Given the description of an element on the screen output the (x, y) to click on. 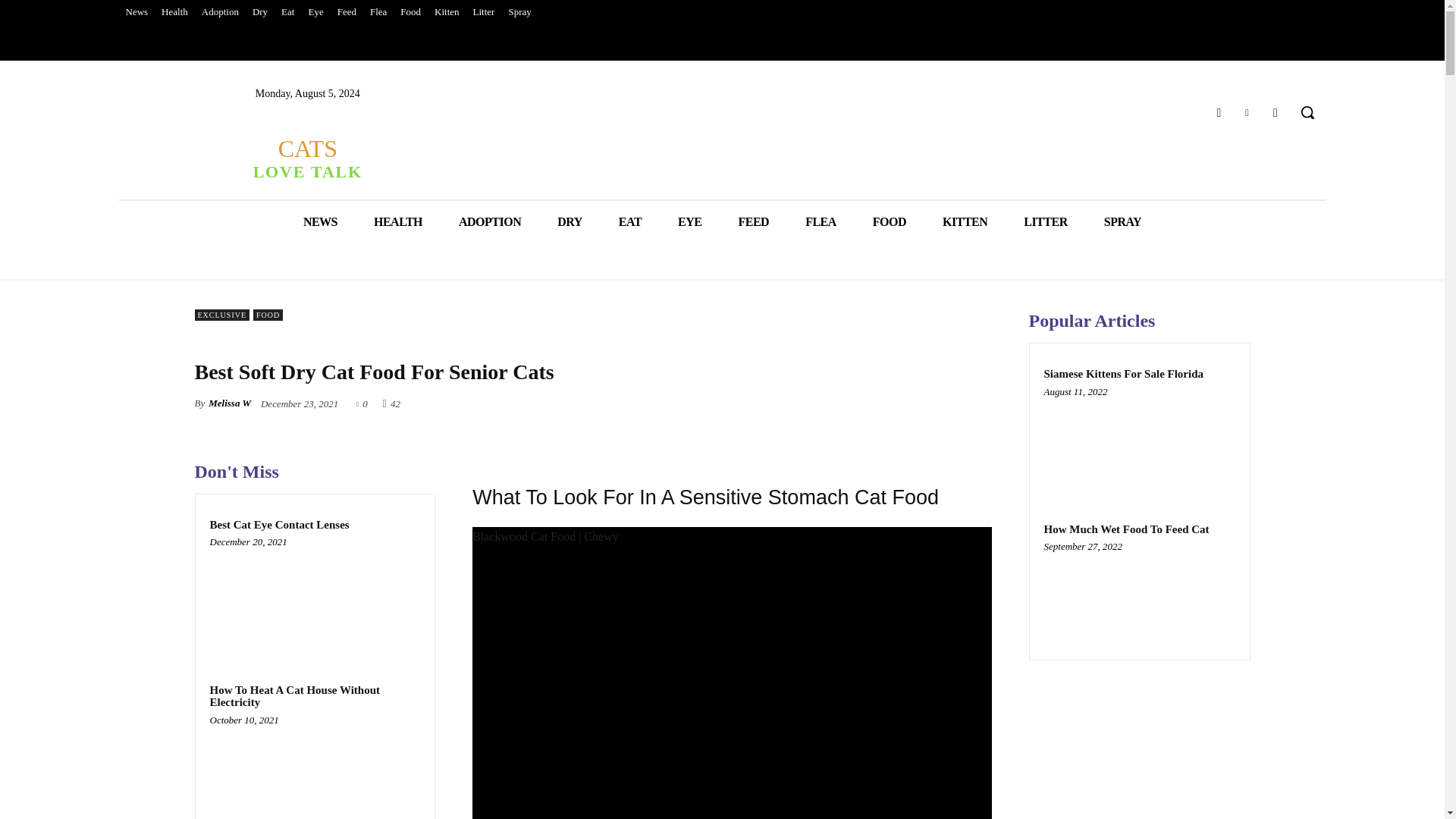
News (135, 12)
Food (410, 12)
How To Heat A Cat House Without Electricity (314, 771)
Kitten (446, 12)
Spray (518, 12)
Flea (377, 12)
Feed (346, 12)
Best Cat Eye Contact Lenses (314, 597)
Best Cat Eye Contact Lenses (279, 524)
Eye (315, 12)
Facebook (1218, 112)
Health (174, 12)
Dry (260, 12)
Adoption (220, 12)
Youtube (1275, 112)
